Given the description of an element on the screen output the (x, y) to click on. 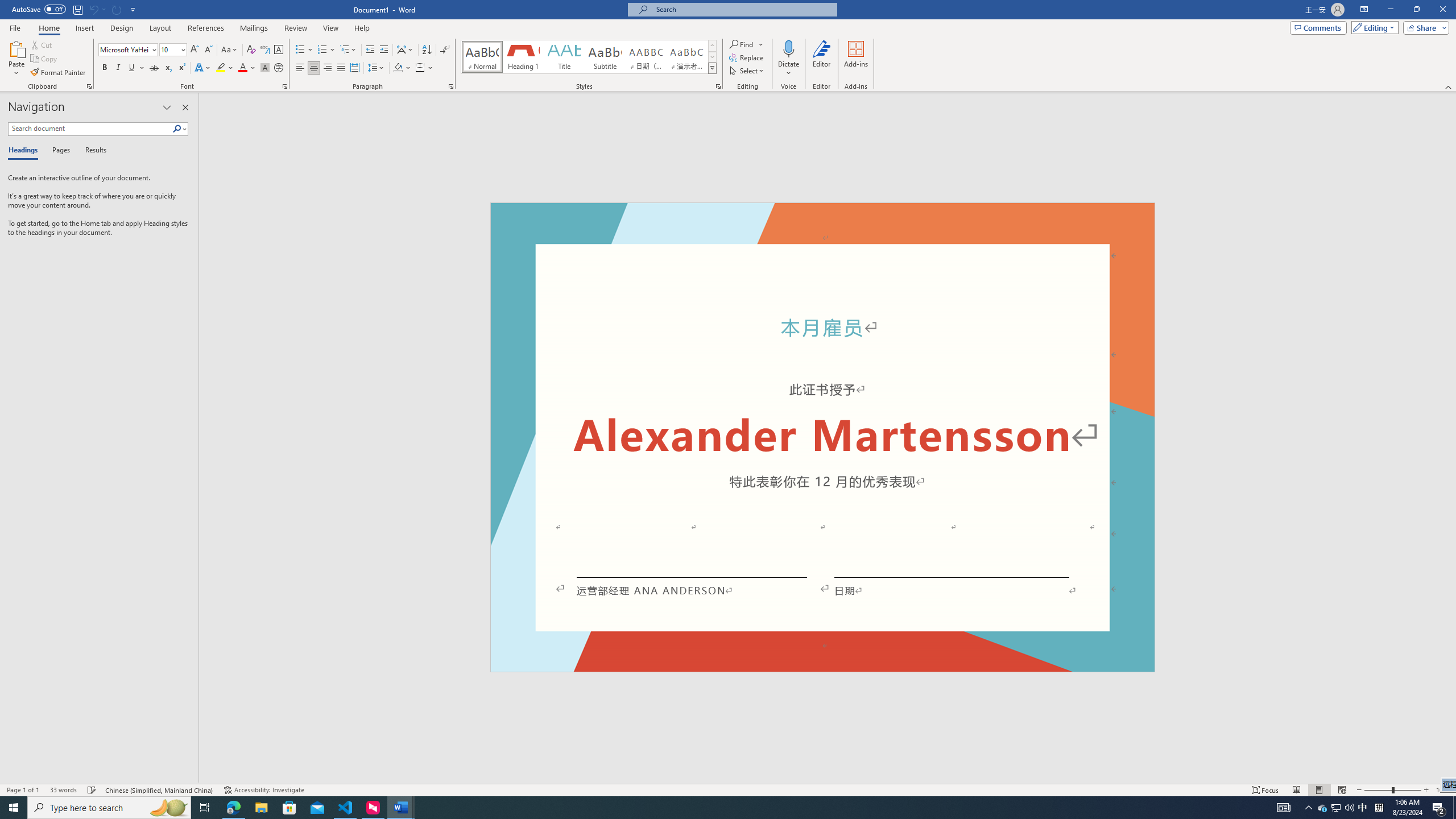
Styles... (717, 85)
Center (313, 67)
Accessibility Checker Accessibility: Investigate (263, 790)
Design (122, 28)
Title (564, 56)
Mode (1372, 27)
Page 1 content (822, 445)
Change Case (229, 49)
Can't Repeat (117, 9)
Zoom 104% (1443, 790)
